Given the description of an element on the screen output the (x, y) to click on. 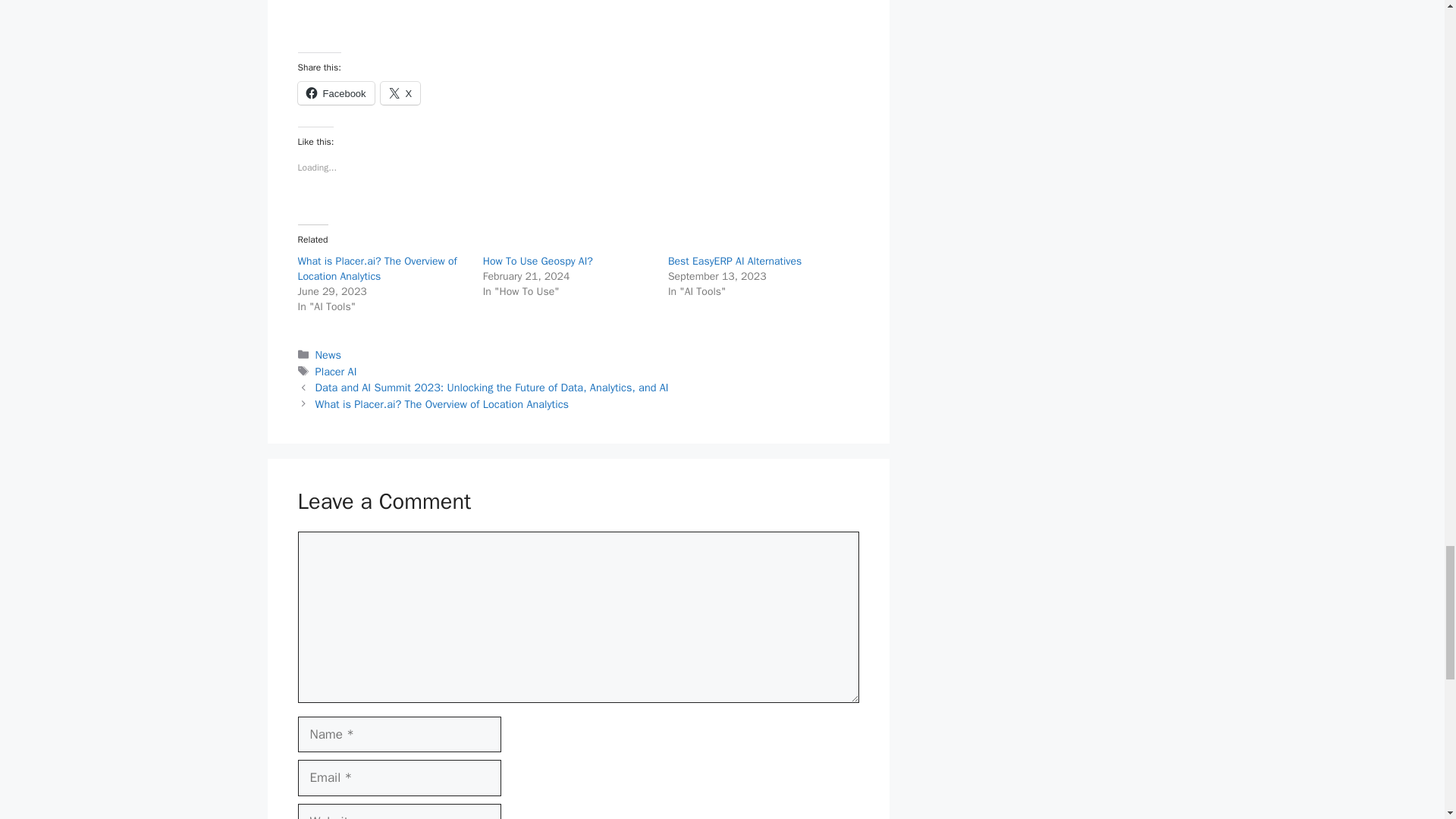
Click to share on Facebook (335, 92)
Placer AI (335, 371)
Best EasyERP AI Alternatives (735, 260)
Best EasyERP AI Alternatives (735, 260)
What is Placer.ai? The Overview of Location Analytics (377, 268)
How To Use Geospy AI? (537, 260)
Facebook (335, 92)
X (400, 92)
How To Use Geospy AI? (537, 260)
What is Placer.ai? The Overview of Location Analytics (442, 404)
Click to share on X (400, 92)
What is Placer.ai? The Overview of Location Analytics (377, 268)
News (327, 354)
